Given the description of an element on the screen output the (x, y) to click on. 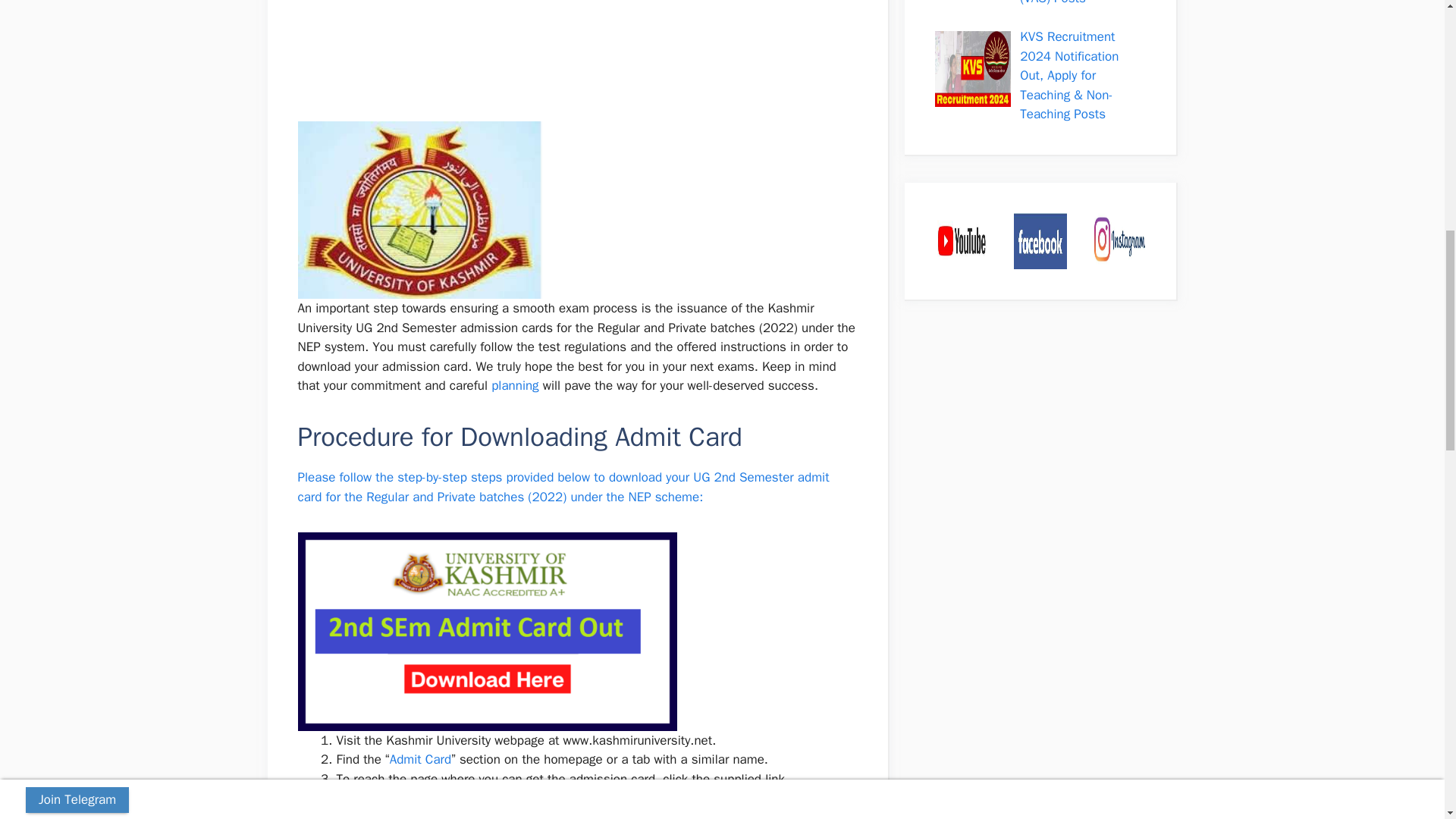
Advertisement (586, 57)
number (700, 797)
admission (394, 814)
planning (515, 385)
Admit Card (420, 759)
